Given the description of an element on the screen output the (x, y) to click on. 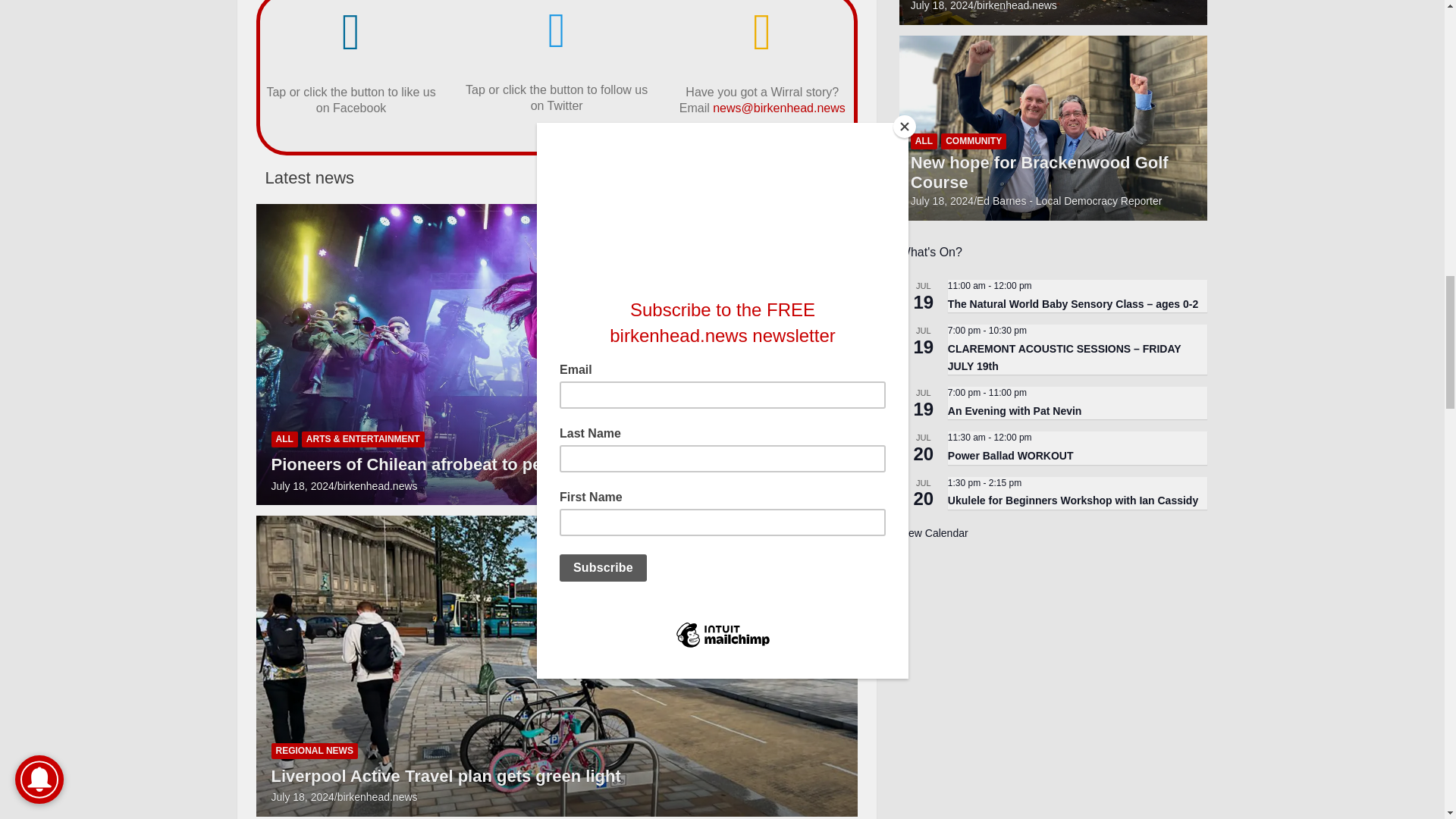
Liverpool Active Travel plan gets green light (302, 797)
